Given the description of an element on the screen output the (x, y) to click on. 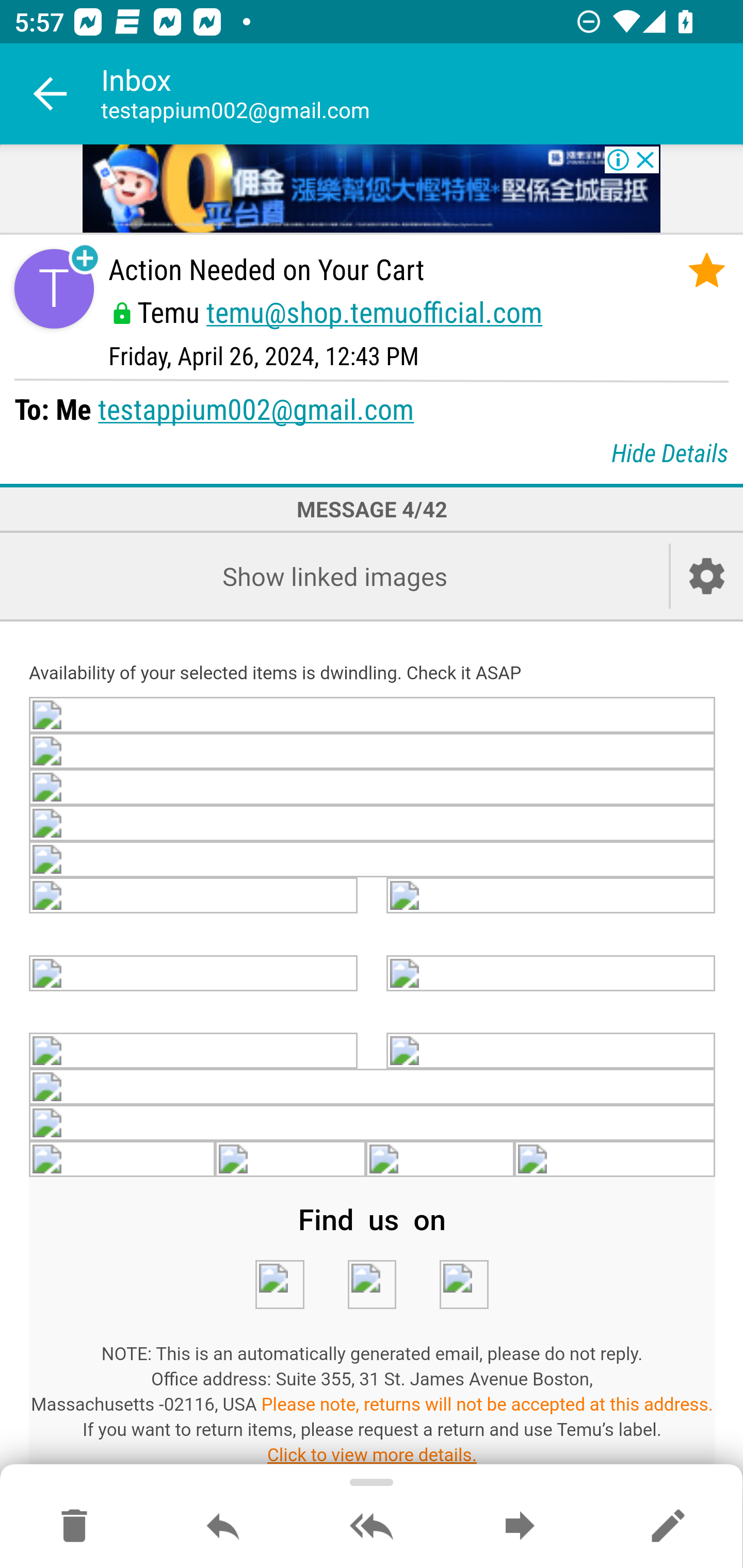
Navigate up (50, 93)
Inbox testappium002@gmail.com (422, 93)
Sender contact button (53, 289)
Show linked images (334, 576)
Account setup (706, 576)
Move to Deleted (74, 1527)
Reply (222, 1527)
Reply all (371, 1527)
Forward (519, 1527)
Reply as new (667, 1527)
